Given the description of an element on the screen output the (x, y) to click on. 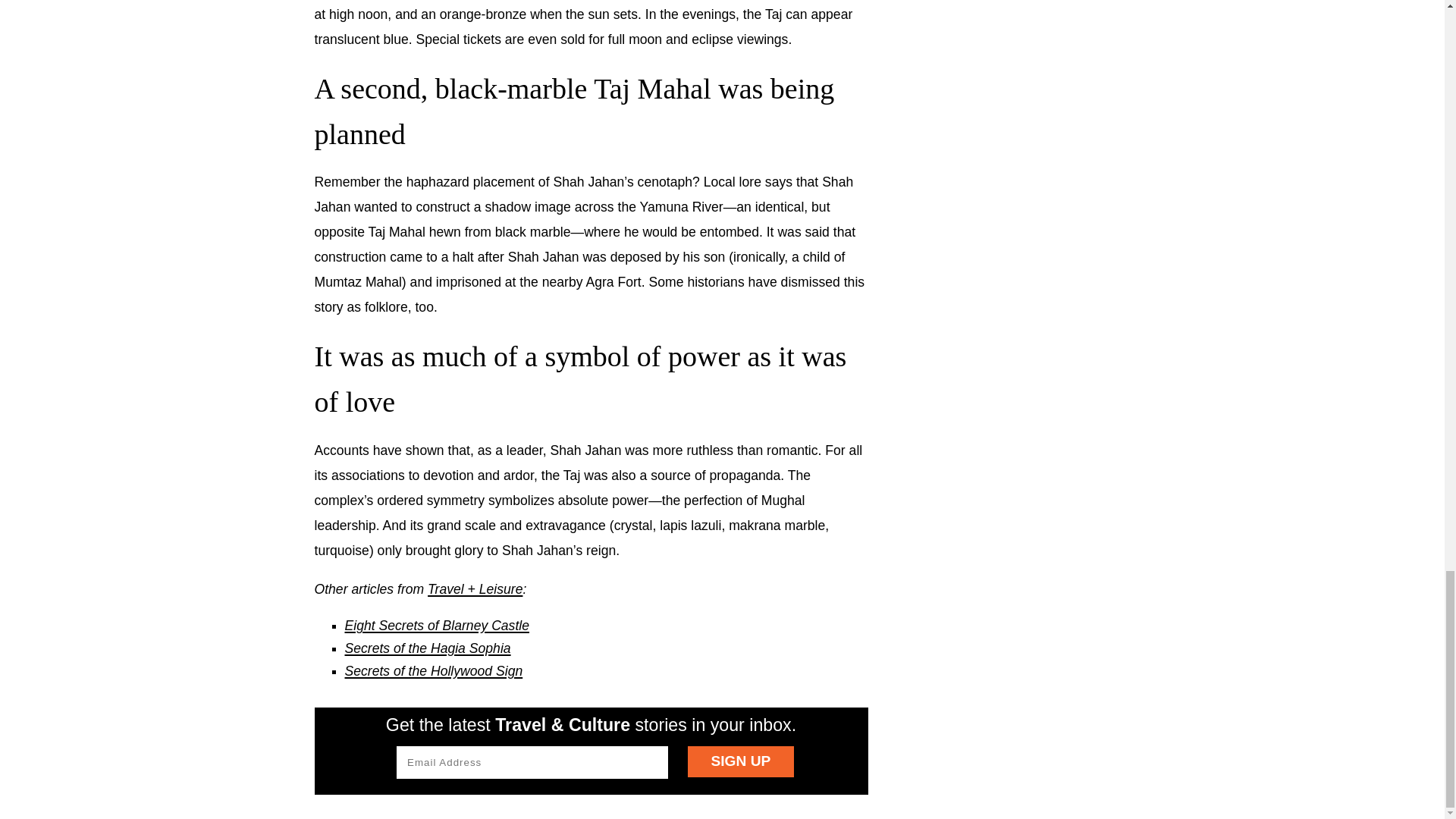
Sign Up (740, 761)
